Given the description of an element on the screen output the (x, y) to click on. 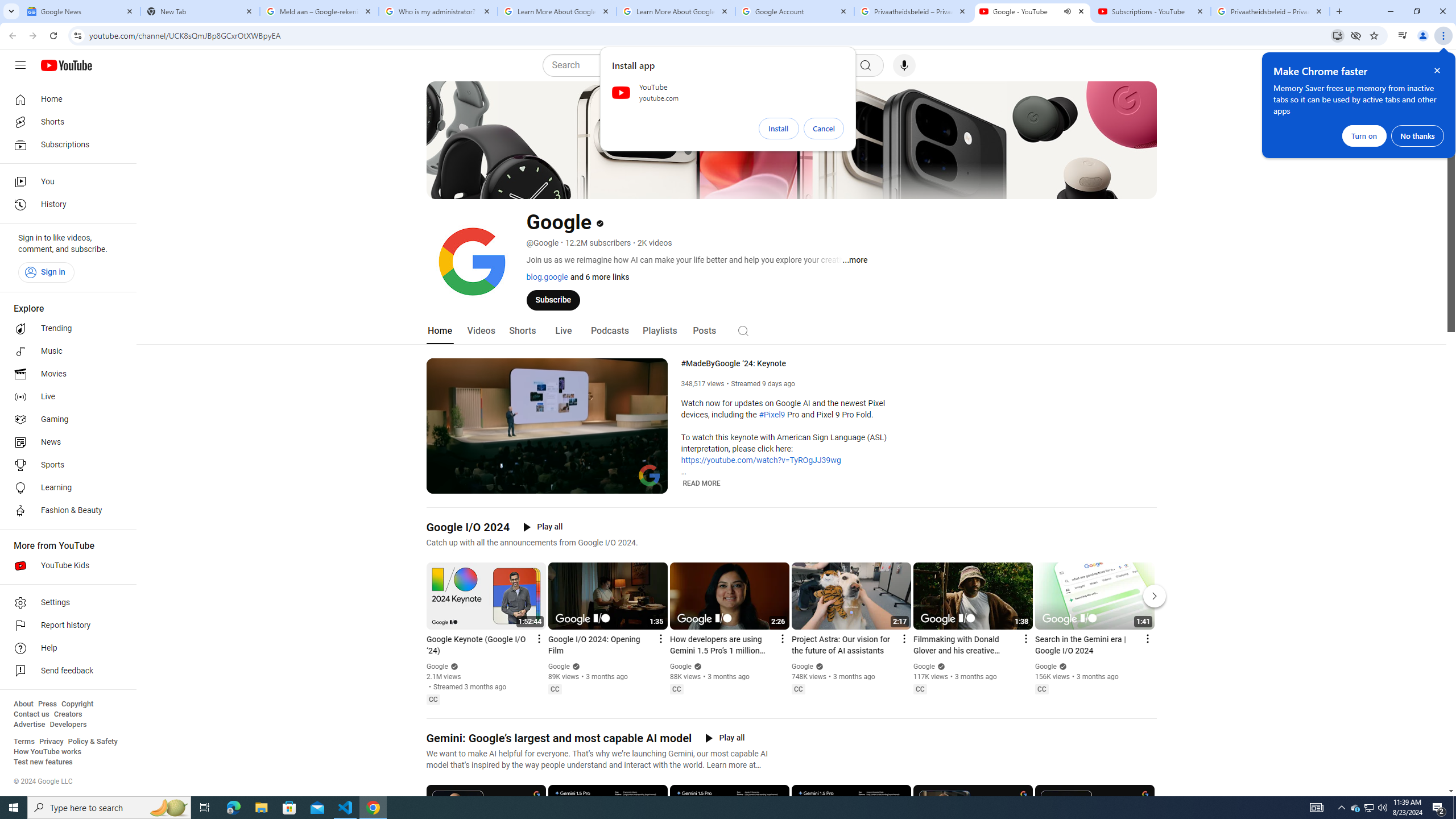
Full screen (f) (650, 483)
Podcasts (608, 330)
Press (46, 703)
Channel watermark (649, 475)
Channel watermark (649, 475)
https://youtube.com/watch?v=TyROgJJ39wg (761, 460)
Music (64, 350)
Google News (80, 11)
Advertise (29, 724)
Send feedback (64, 671)
MadeByGoogle '24: Intro (560, 483)
